Given the description of an element on the screen output the (x, y) to click on. 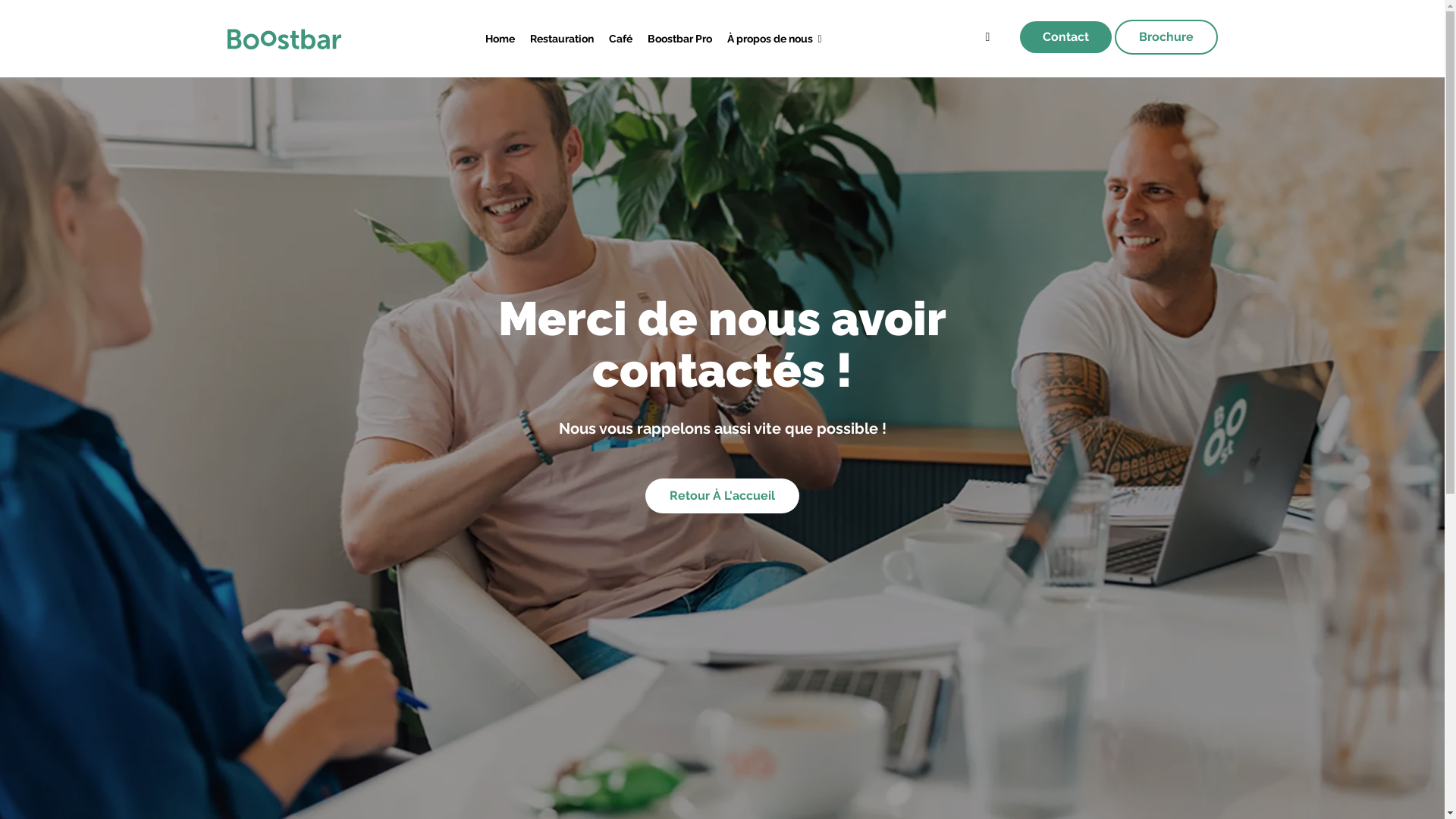
Contact Element type: text (1064, 37)
Boostbar logo Element type: hover (284, 38)
Home Element type: text (499, 38)
Restauration Element type: text (561, 38)
Brochure Element type: text (1165, 36)
Boostbar Pro Element type: text (679, 38)
Passer au contenu principal. Element type: text (0, 0)
